Given the description of an element on the screen output the (x, y) to click on. 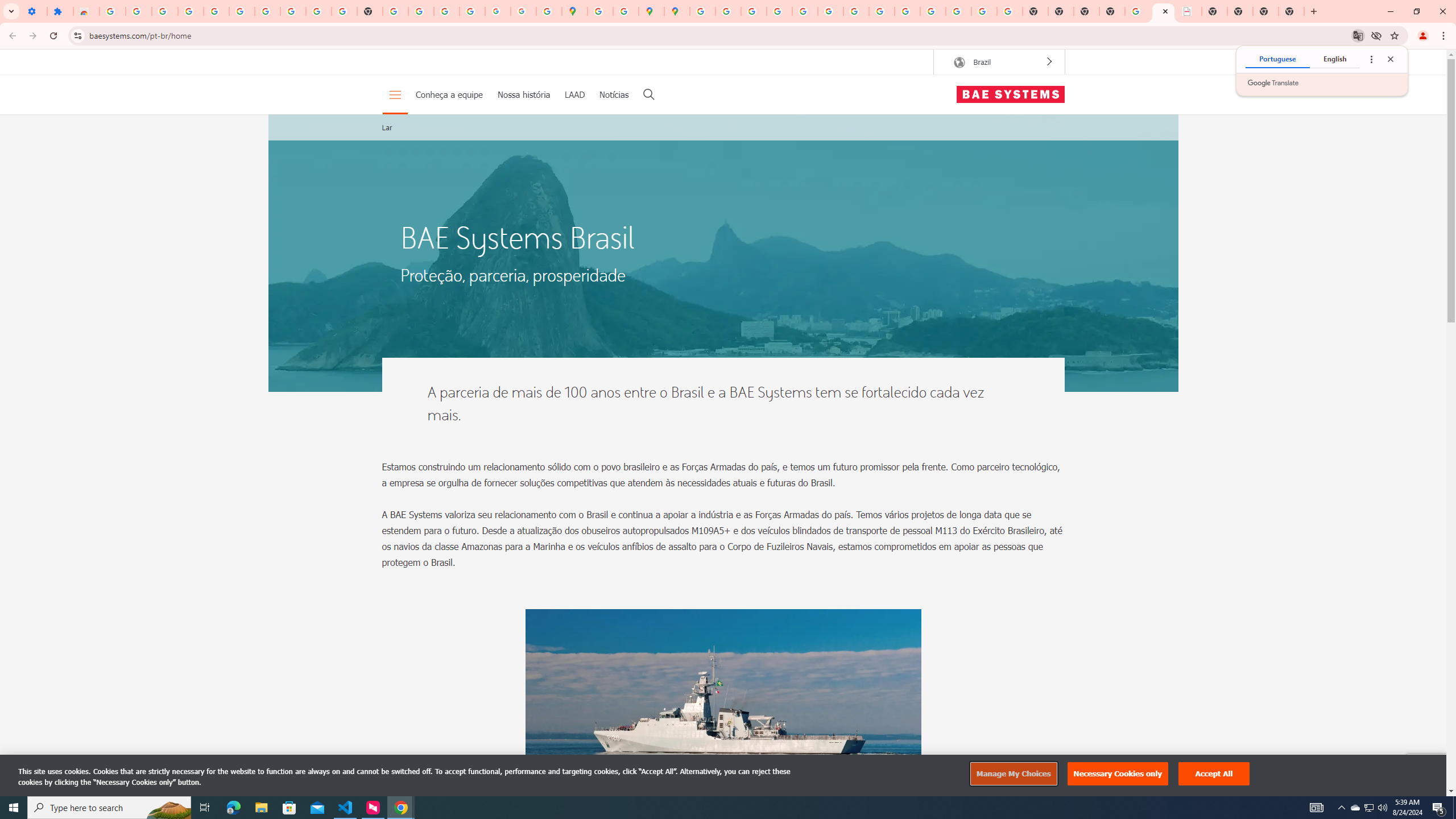
Google Maps (574, 11)
Google Images (1009, 11)
https://scholar.google.com/ (395, 11)
YouTube (318, 11)
Privacy Help Center - Policies Help (753, 11)
Accept All (1213, 774)
